Given the description of an element on the screen output the (x, y) to click on. 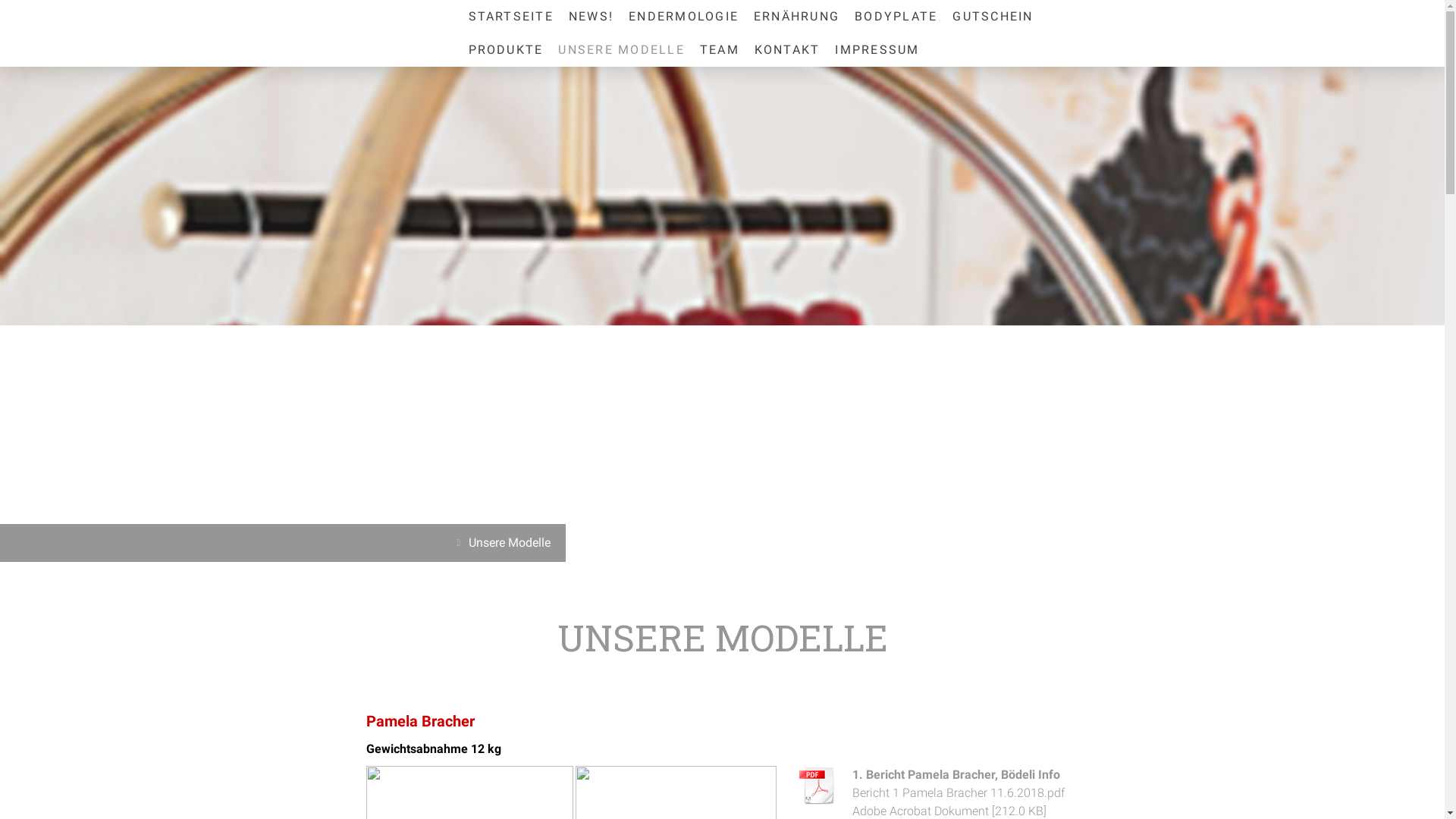
UNSERE MODELLE Element type: text (620, 49)
NEWS! Element type: text (591, 16)
TEAM Element type: text (719, 49)
KONTAKT Element type: text (787, 49)
ENDERMOLOGIE Element type: text (683, 16)
STARTSEITE Element type: text (511, 16)
Unsere Modelle Element type: text (505, 542)
PRODUKTE Element type: text (506, 49)
GUTSCHEIN Element type: text (992, 16)
IMPRESSUM Element type: text (876, 49)
BODYPLATE Element type: text (895, 16)
